Given the description of an element on the screen output the (x, y) to click on. 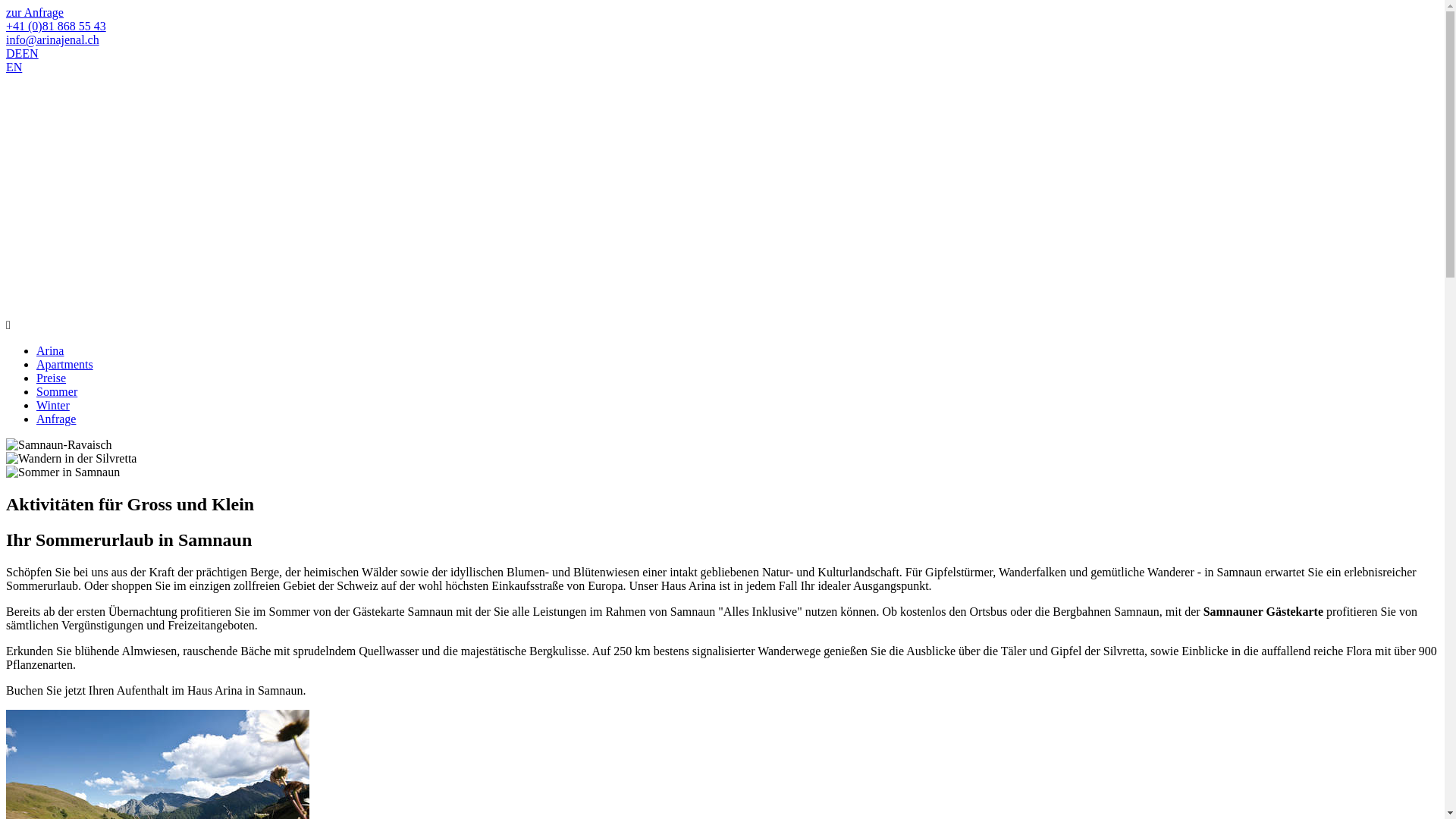
 Samnaun-Ravaisch Element type: hover (59, 444)
+41 (0)81 868 55 43 Element type: text (56, 25)
Preise Element type: text (50, 377)
EN Element type: text (13, 66)
 Sommer in Samnaun Element type: hover (62, 472)
Apartments Element type: text (64, 363)
Winter Element type: text (52, 404)
Arina Element type: text (49, 350)
 Wandern in der Silvretta Element type: hover (71, 458)
info@arinajenal.ch Element type: text (52, 39)
Apart Garni Arina in Samnaun Element type: hover (138, 255)
DE Element type: text (13, 53)
EN Element type: text (29, 53)
zur Anfrage Element type: text (34, 12)
Samnaun Apartment Garni Arina Element type: hover (138, 133)
Sommer Element type: text (56, 391)
Anfrage Element type: text (55, 418)
